Given the description of an element on the screen output the (x, y) to click on. 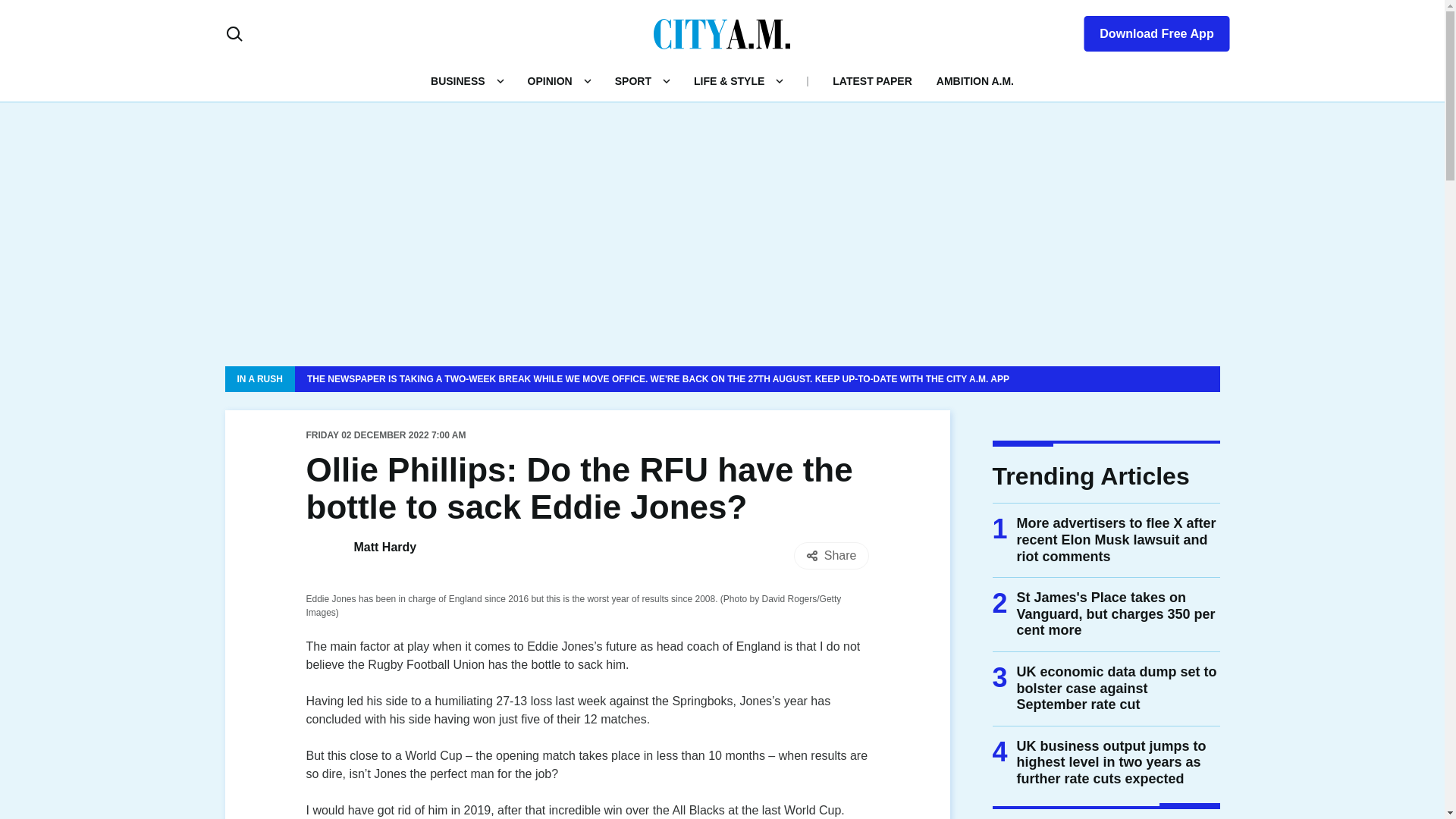
OPINION (549, 80)
BUSINESS (457, 80)
CityAM (721, 33)
SPORT (632, 80)
Download Free App (1146, 30)
